Given the description of an element on the screen output the (x, y) to click on. 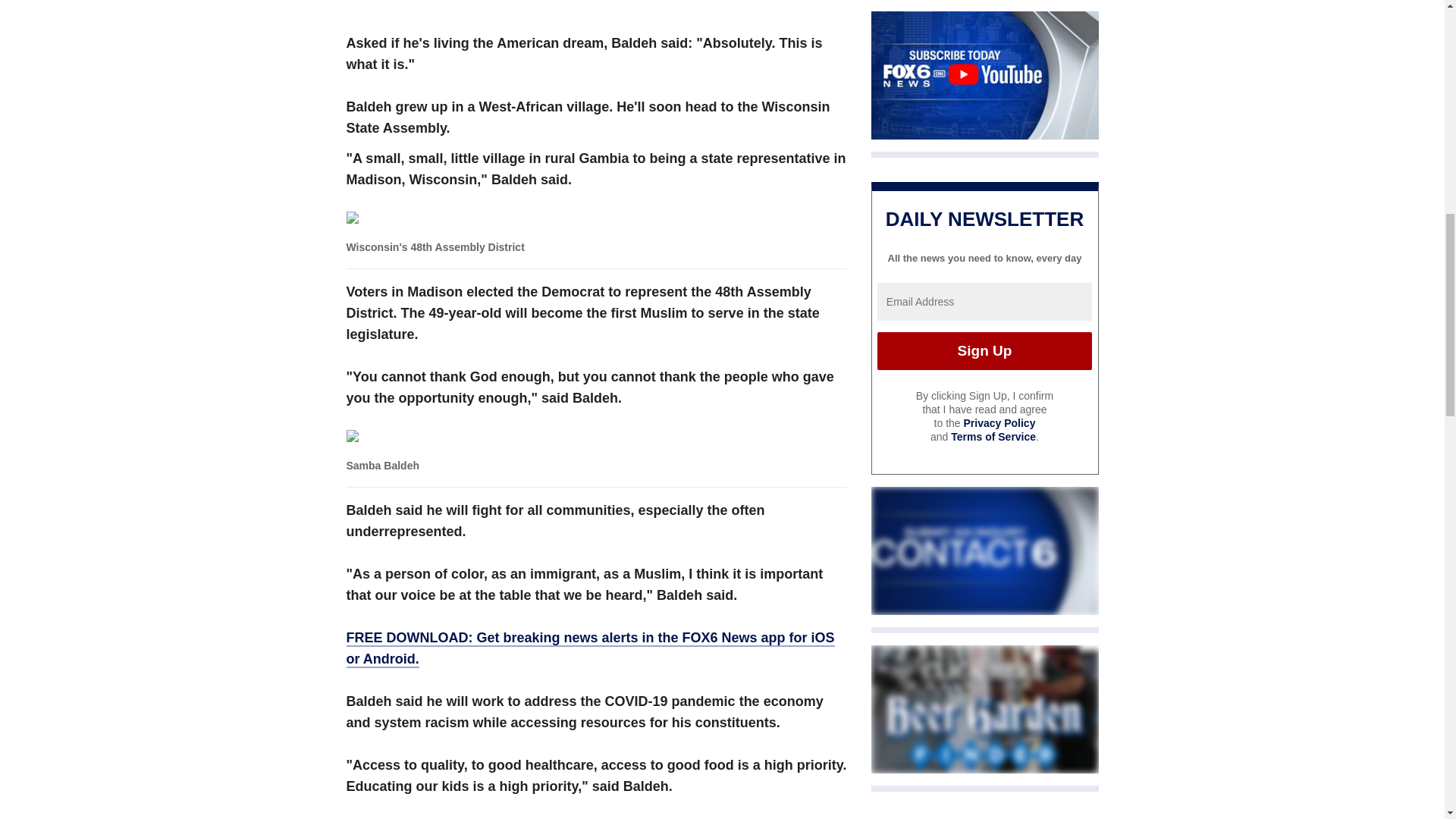
Sign Up (984, 351)
